Given the description of an element on the screen output the (x, y) to click on. 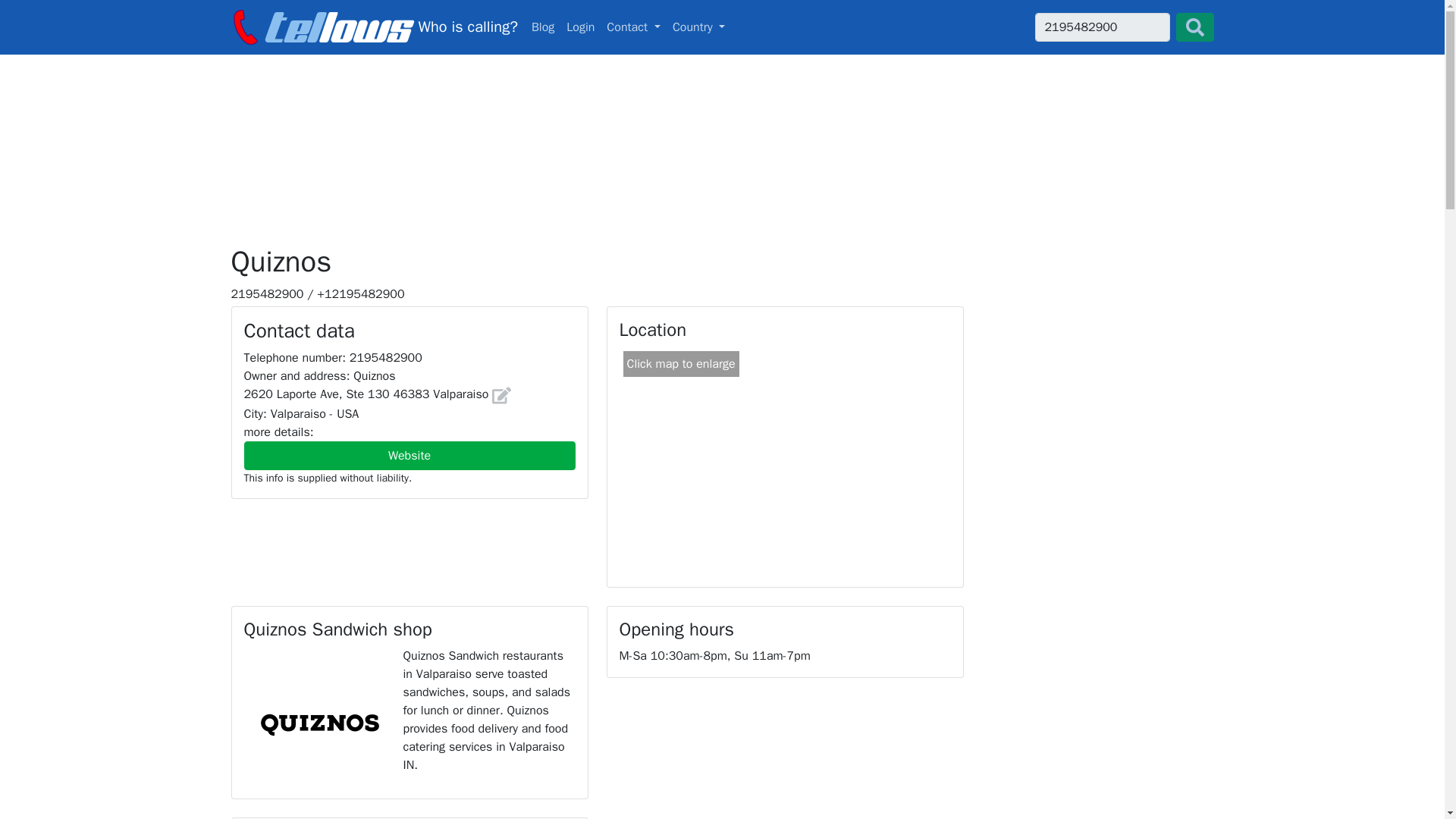
Country (699, 27)
Website (722, 26)
tellows - the community for calls, phone spam and complaints (409, 455)
Contact (373, 26)
Login (632, 27)
Who is calling? (579, 27)
Blog (373, 26)
2195482900 (542, 27)
Blog (1101, 27)
